Given the description of an element on the screen output the (x, y) to click on. 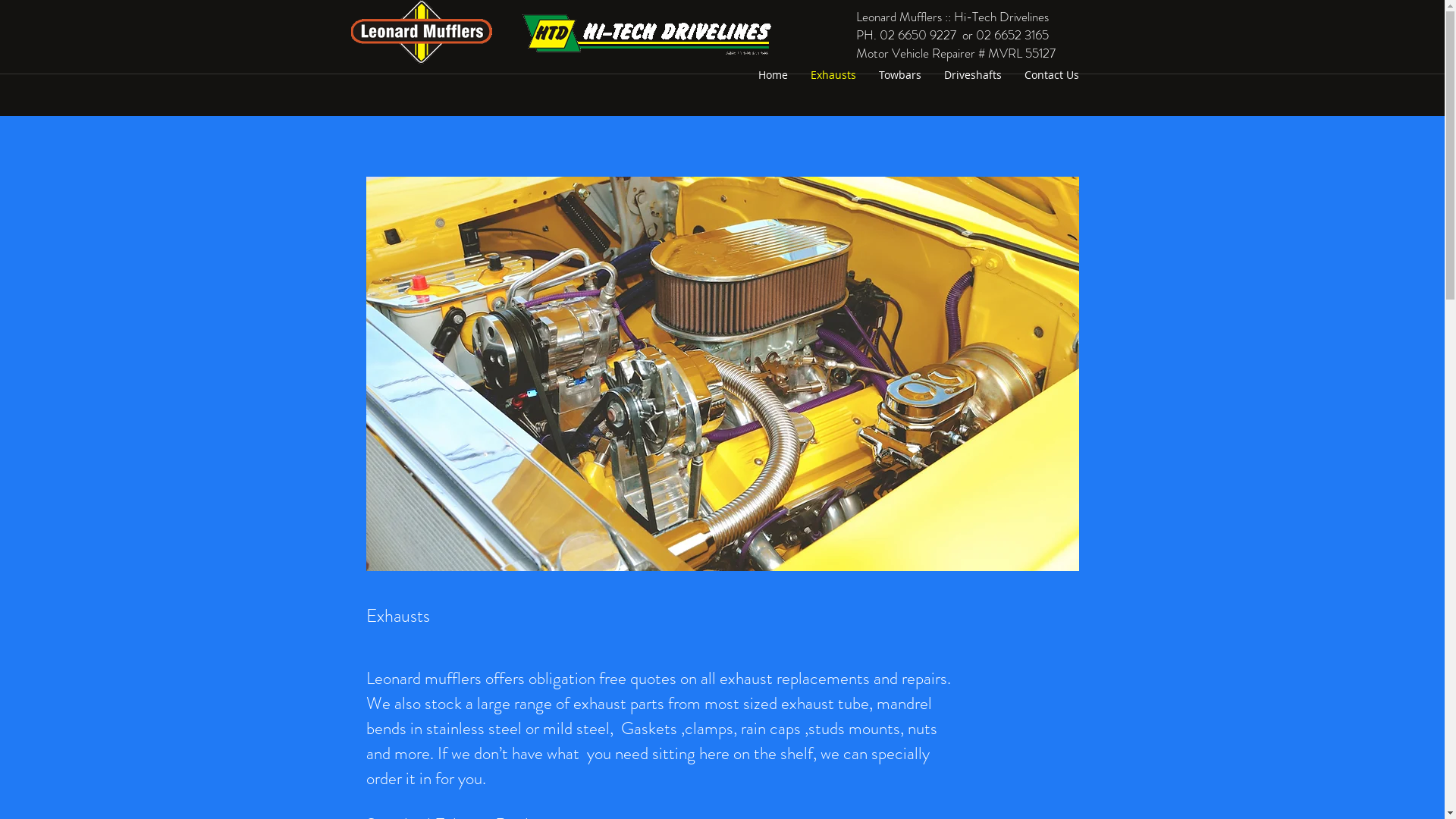
Home Element type: text (772, 74)
Driveshafts Element type: text (972, 74)
Exhausts Element type: text (833, 74)
Contact Us Element type: text (1051, 74)
Towbars Element type: text (899, 74)
